Given the description of an element on the screen output the (x, y) to click on. 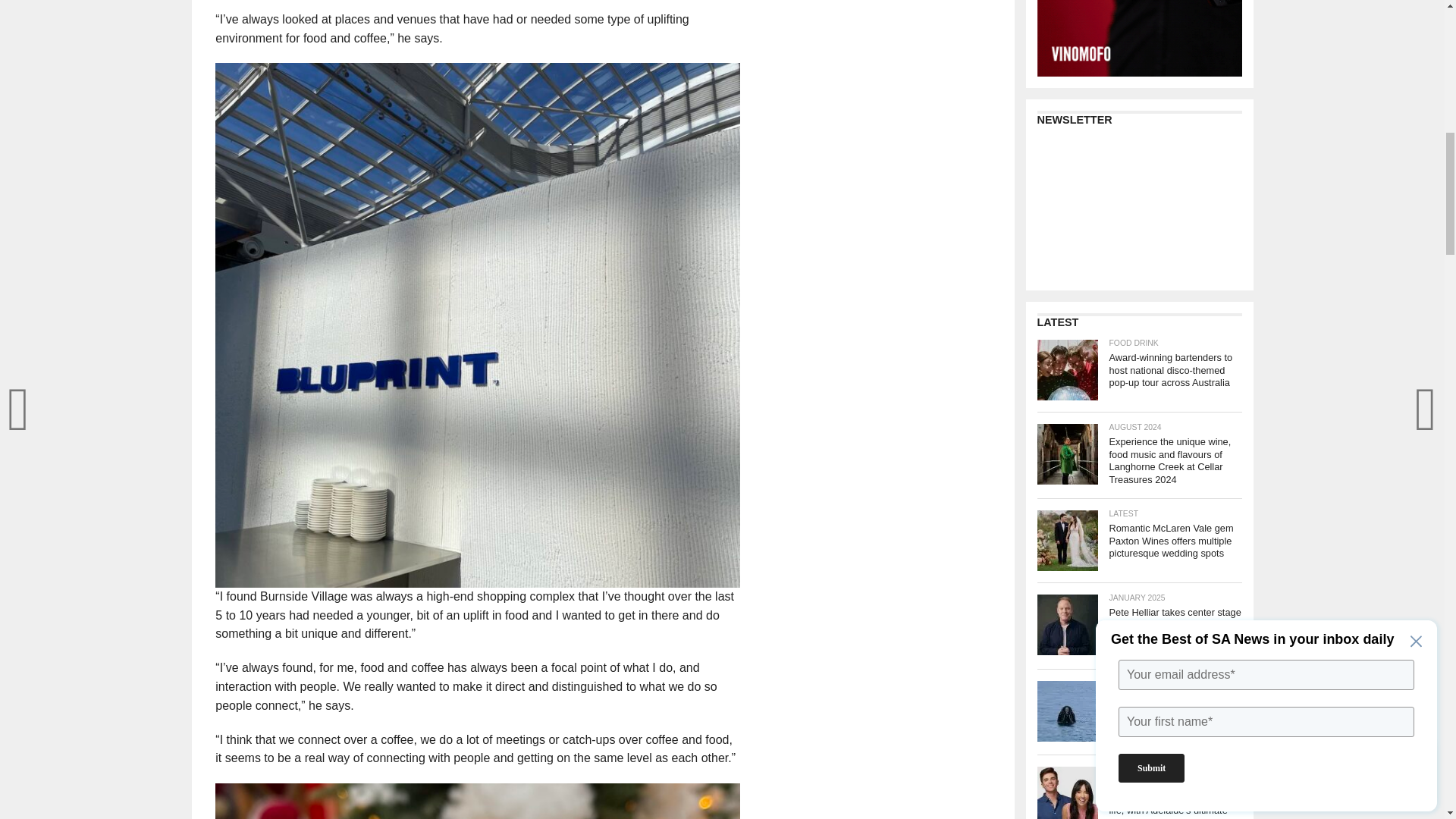
Form 0 (1138, 207)
